Given the description of an element on the screen output the (x, y) to click on. 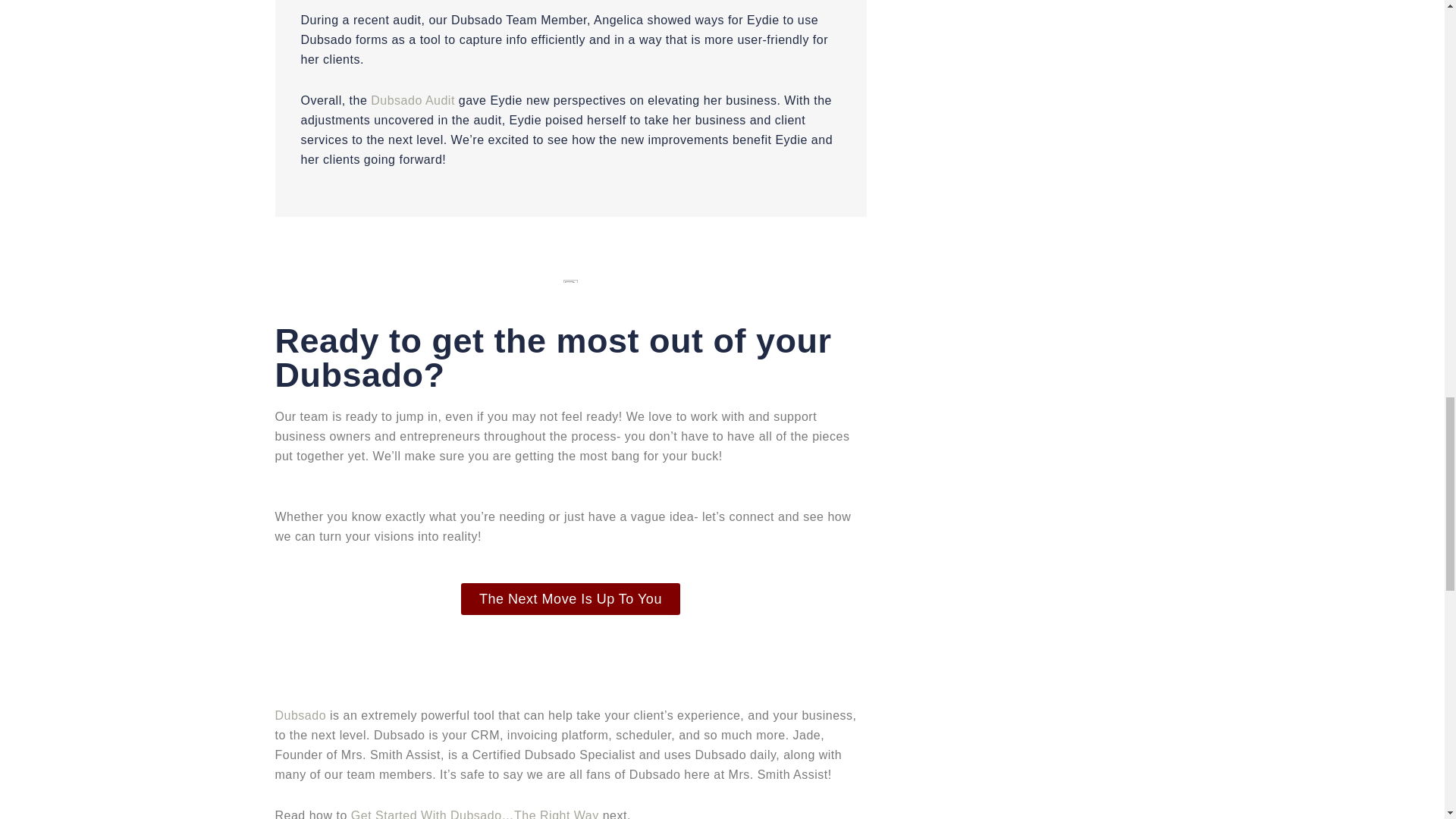
The Next Move Is Up To You (570, 599)
Dubsado (302, 715)
Dubsado Audi (411, 100)
